Given the description of an element on the screen output the (x, y) to click on. 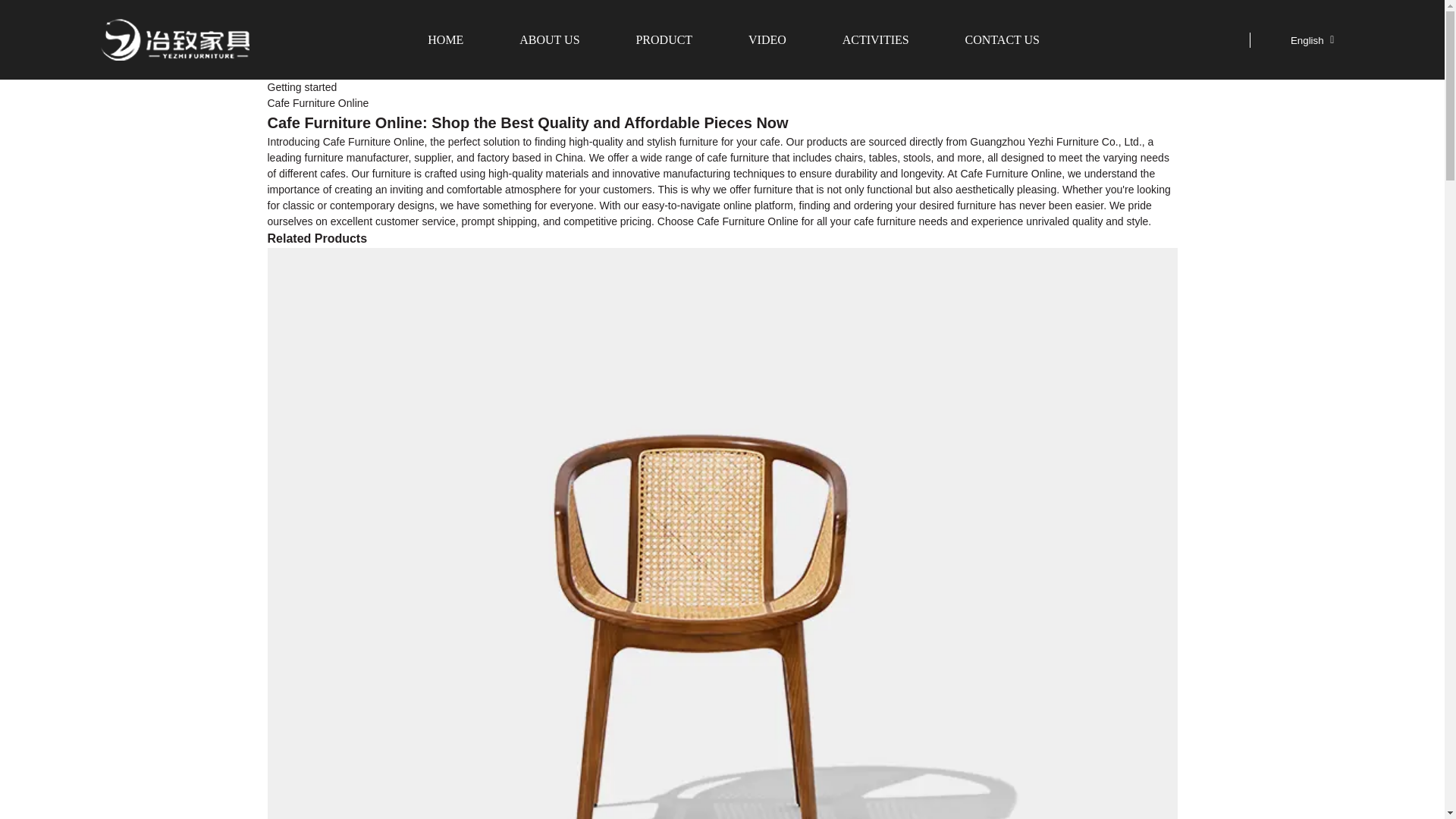
VIDEO (767, 38)
HOME (445, 38)
ACTIVITIES (875, 38)
CONTACT US (1002, 38)
Getting started (301, 87)
Cafe Furniture Online (317, 102)
English (1294, 39)
PRODUCT (663, 38)
ABOUT US (549, 38)
